Given the description of an element on the screen output the (x, y) to click on. 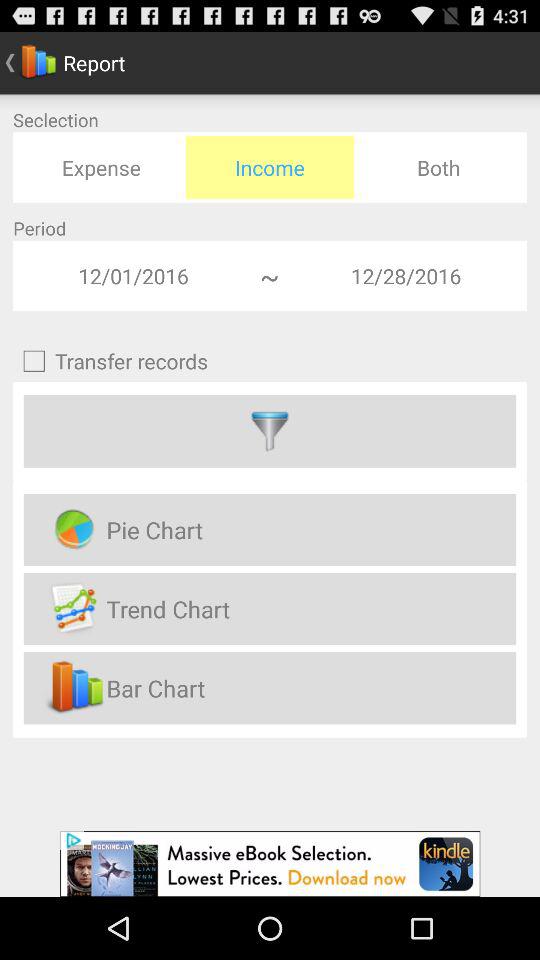
filter icon (269, 431)
